Given the description of an element on the screen output the (x, y) to click on. 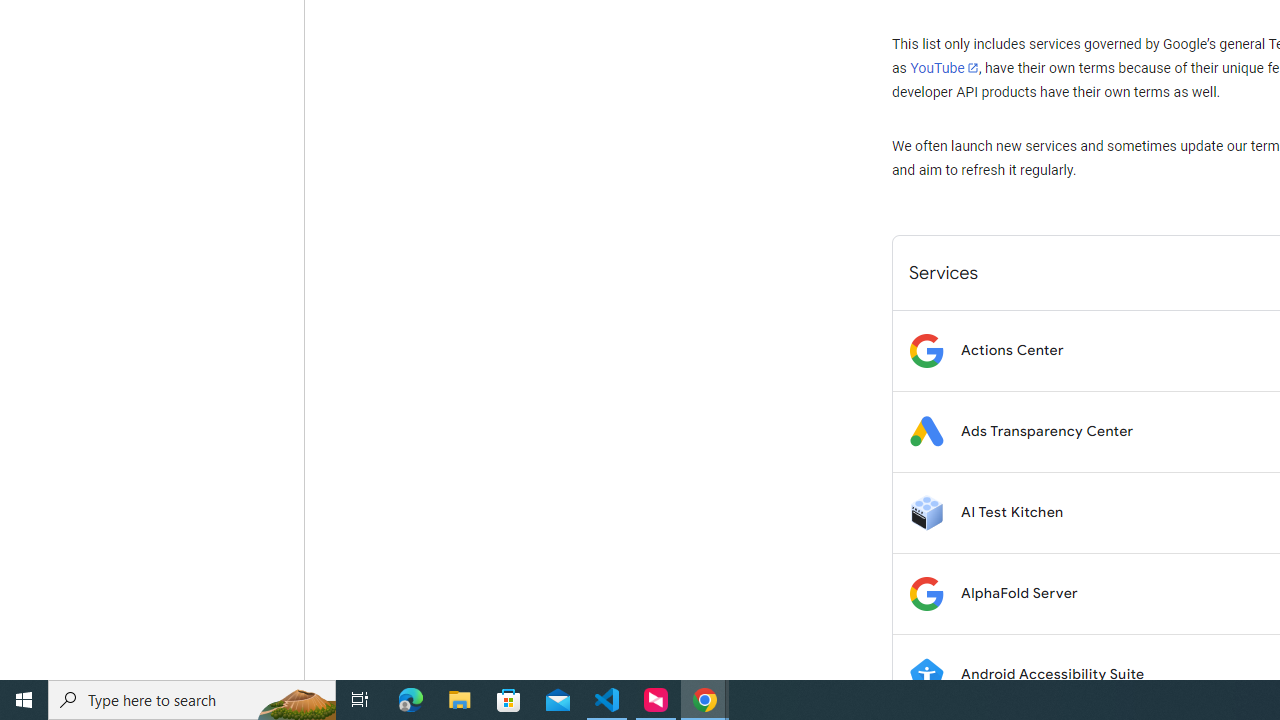
Logo for Actions Center (926, 349)
Logo for Android Accessibility Suite (926, 673)
Logo for AI Test Kitchen (926, 512)
YouTube (944, 68)
Logo for Ads Transparency Center (926, 431)
Logo for AlphaFold Server (926, 593)
